Given the description of an element on the screen output the (x, y) to click on. 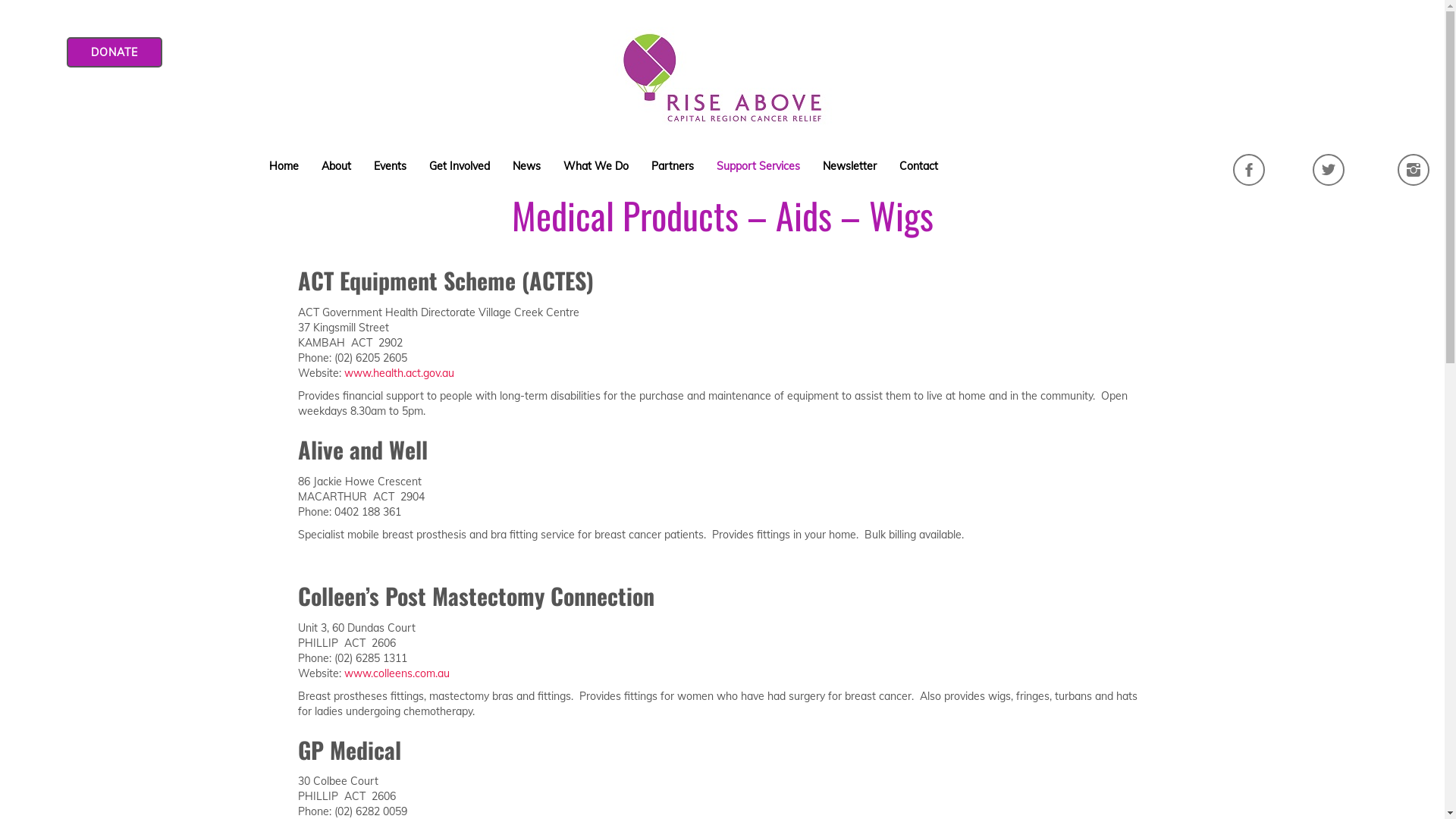
News Element type: text (526, 165)
Home Element type: text (283, 165)
About Element type: text (336, 165)
Get Involved Element type: text (459, 165)
DONATE Element type: text (114, 52)
Support Services Element type: text (758, 165)
Newsletter Element type: text (849, 165)
Contact Element type: text (918, 165)
Partners Element type: text (672, 165)
What We Do Element type: text (596, 165)
Events Element type: text (389, 165)
www.health.act.gov.au Element type: text (399, 372)
www.colleens.com.au Element type: text (396, 673)
